Given the description of an element on the screen output the (x, y) to click on. 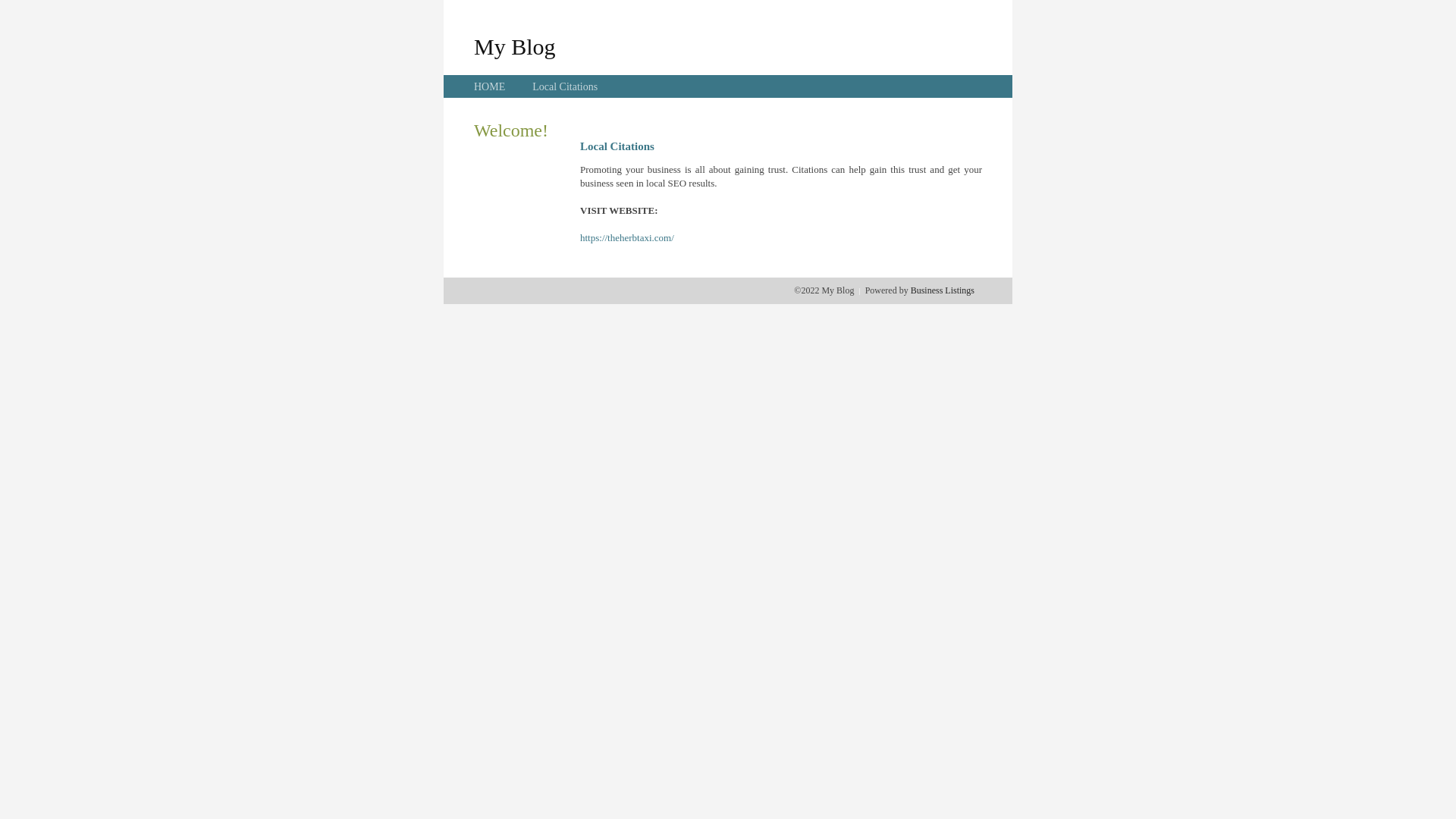
My Blog Element type: text (514, 46)
Local Citations Element type: text (564, 86)
https://theherbtaxi.com/ Element type: text (627, 237)
HOME Element type: text (489, 86)
Business Listings Element type: text (942, 290)
